Given the description of an element on the screen output the (x, y) to click on. 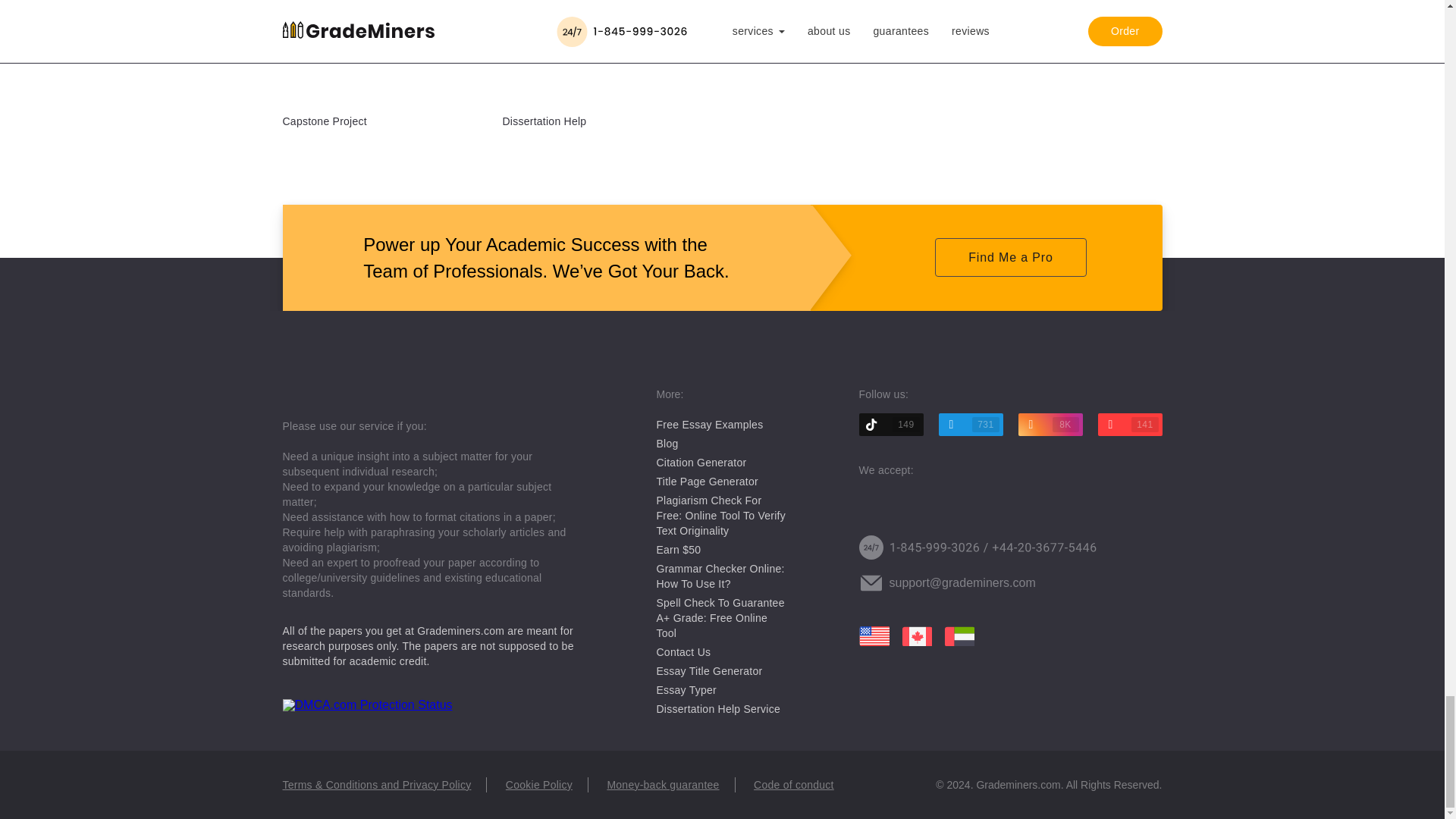
Dissertation Help (544, 121)
DMCA.com Protection Status (366, 704)
Essay Writing in Canada (916, 636)
Find Me a Pro (1010, 257)
Capstone Project (324, 121)
